Given the description of an element on the screen output the (x, y) to click on. 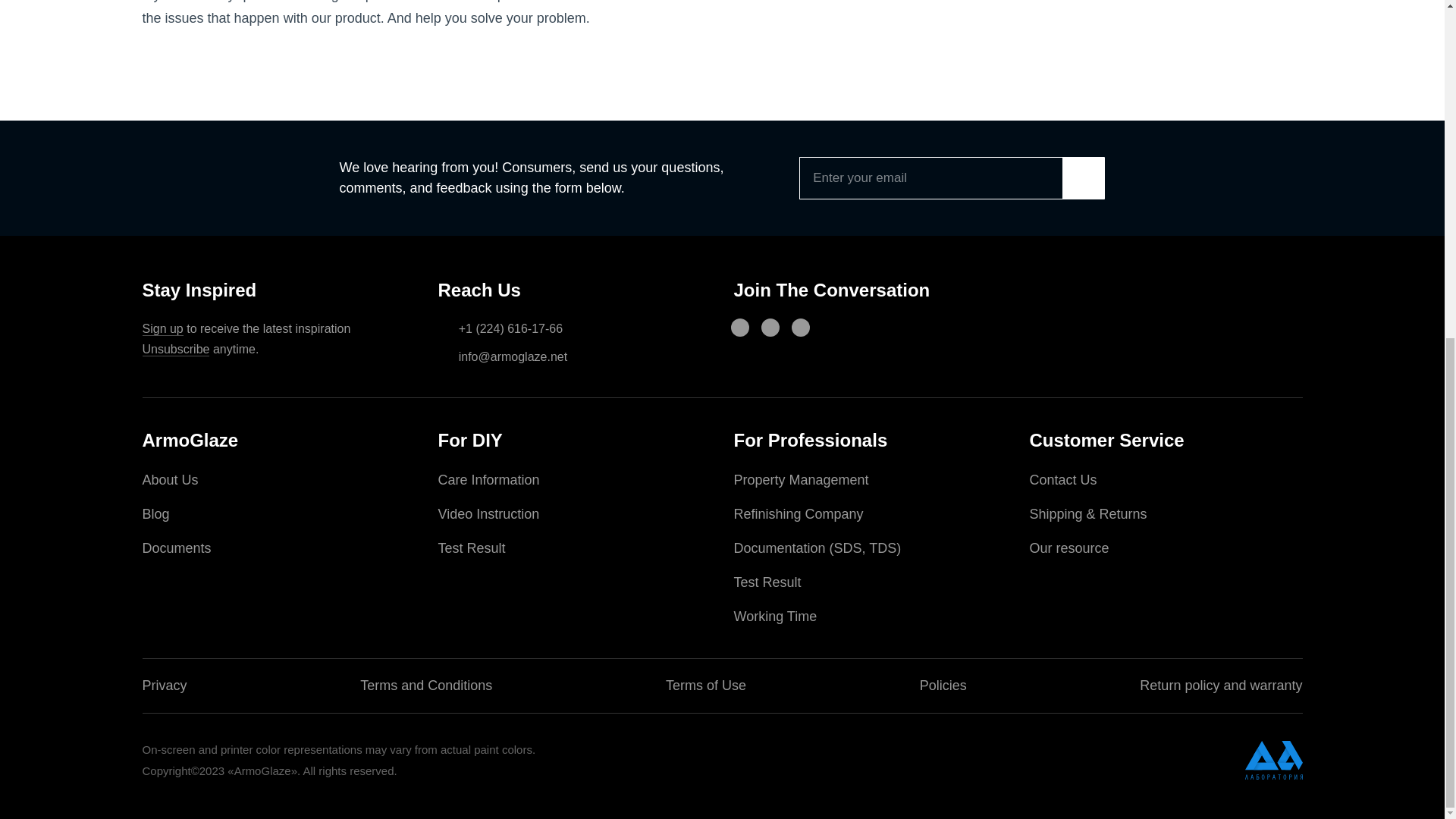
Documents (176, 548)
Blog (156, 513)
Test Result (471, 548)
Property Management (801, 479)
About Us (170, 479)
Care Information (489, 479)
Unsubscribe (175, 349)
Sign up (162, 328)
Video Instruction (489, 513)
